Given the description of an element on the screen output the (x, y) to click on. 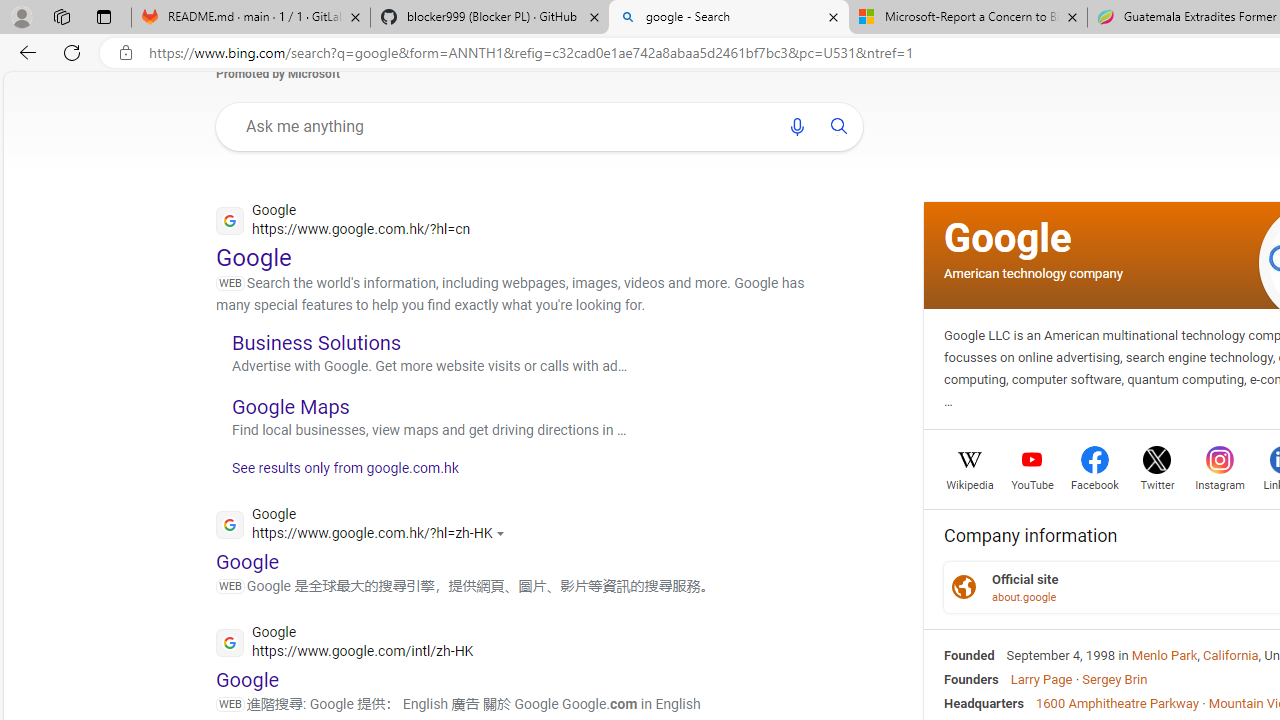
Ask me anything (502, 126)
California (1231, 655)
YouTube (1032, 483)
1600 Amphitheatre Parkway (1117, 702)
Twitter (1156, 483)
